Given the description of an element on the screen output the (x, y) to click on. 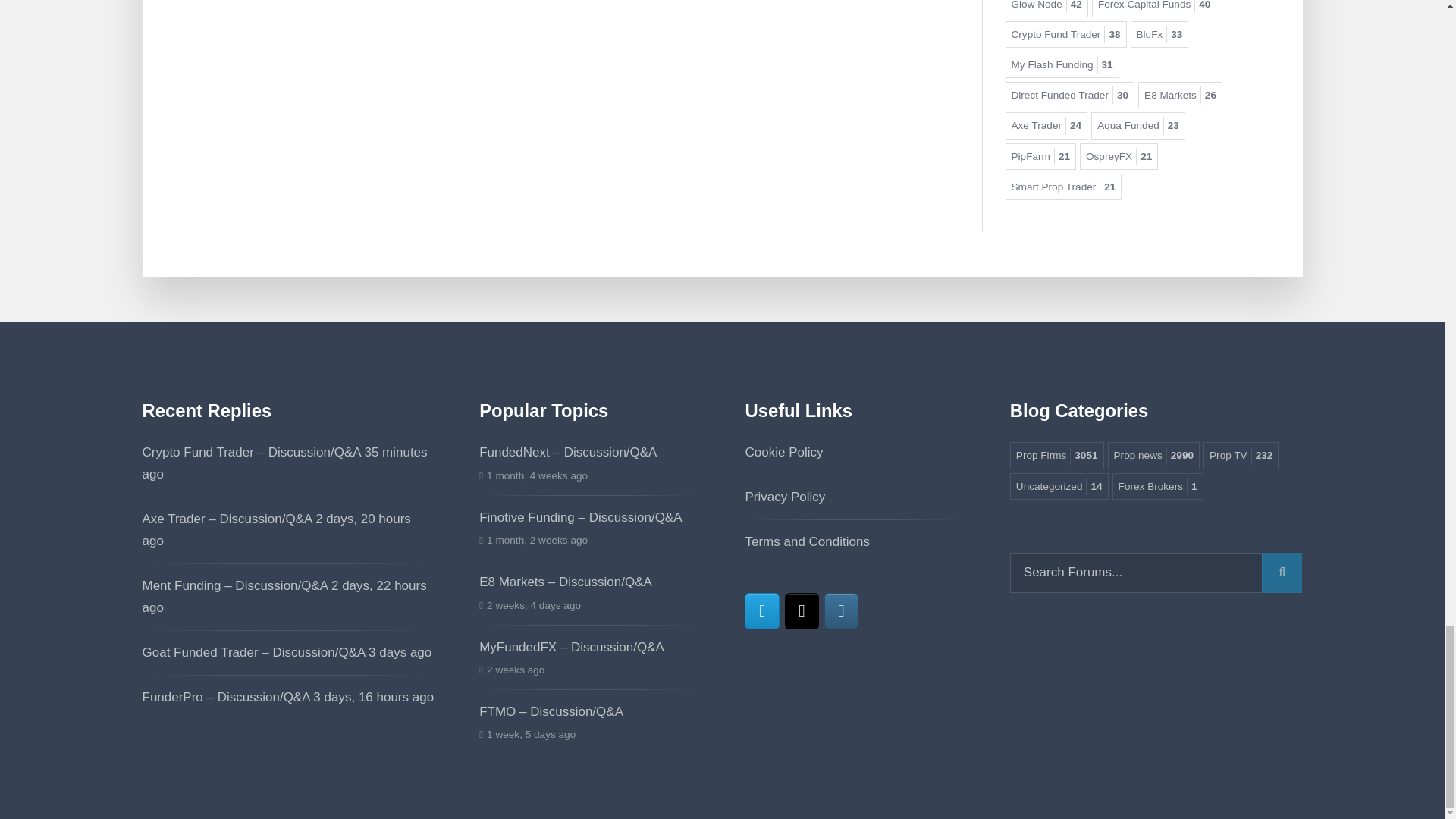
Forex Prop Forum on X Twitter (801, 610)
Forex Prop Forum on Telegram Plane (761, 610)
Forex Prop Forum on Instagram (841, 610)
